Given the description of an element on the screen output the (x, y) to click on. 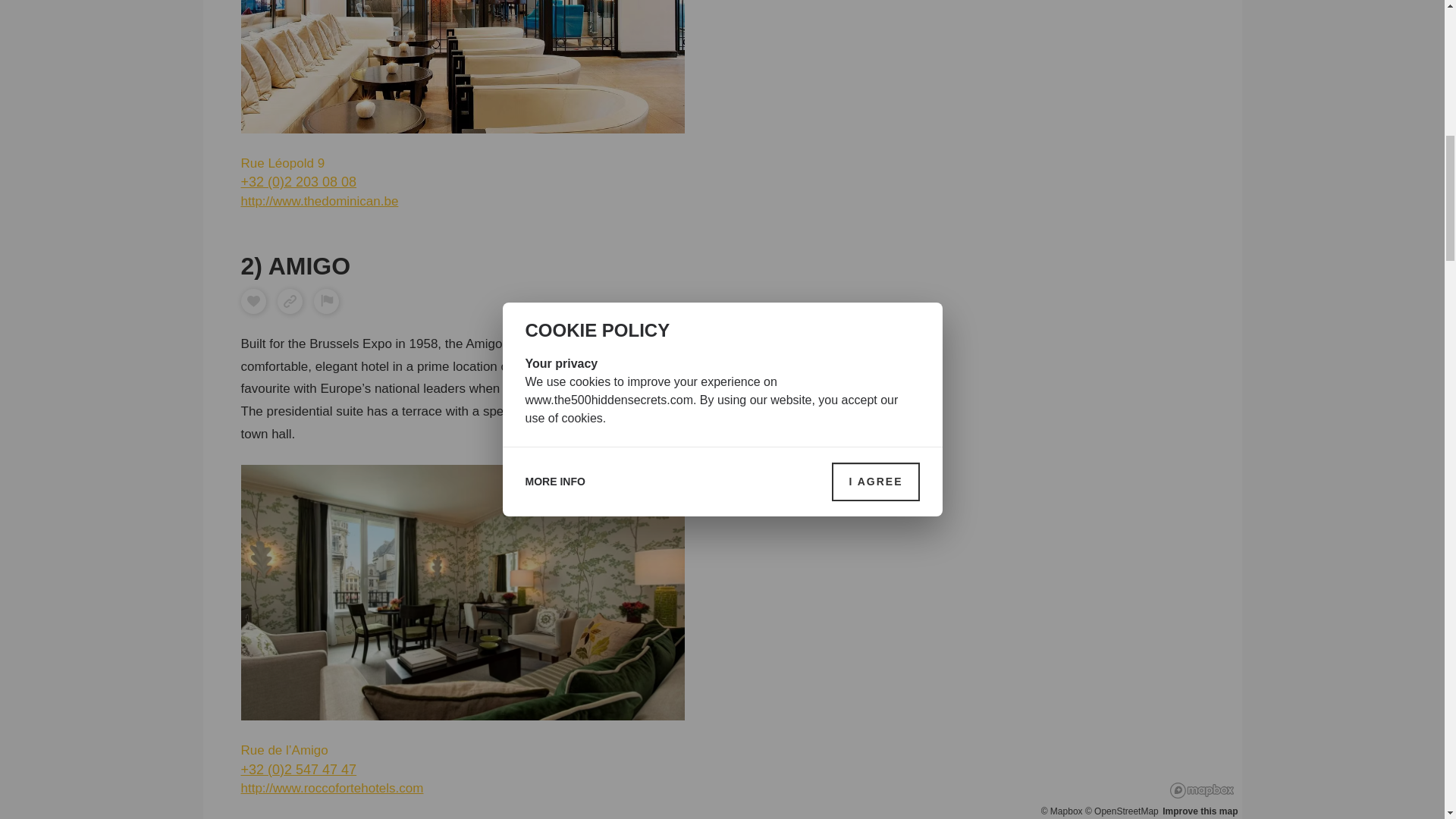
Improve this map (1199, 466)
OpenStreetMap (1121, 466)
Mapbox (1062, 466)
